Given the description of an element on the screen output the (x, y) to click on. 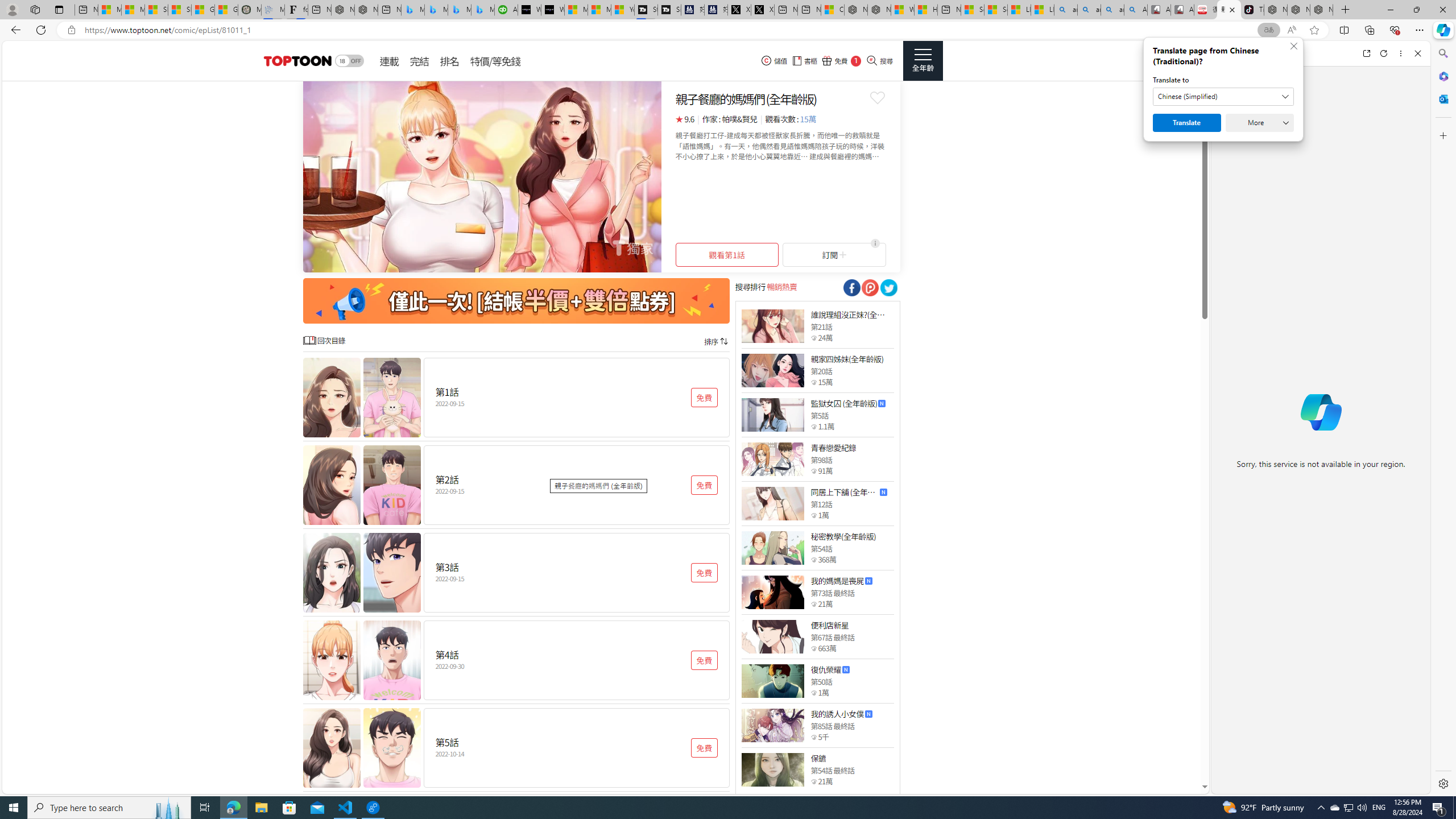
Settings (1442, 783)
Accounting Software for Accountants, CPAs and Bookkeepers (505, 9)
Manatee Mortality Statistics | FWC (249, 9)
More options (1401, 53)
Class: thumb_img (772, 769)
Chat (1231, 52)
